Given the description of an element on the screen output the (x, y) to click on. 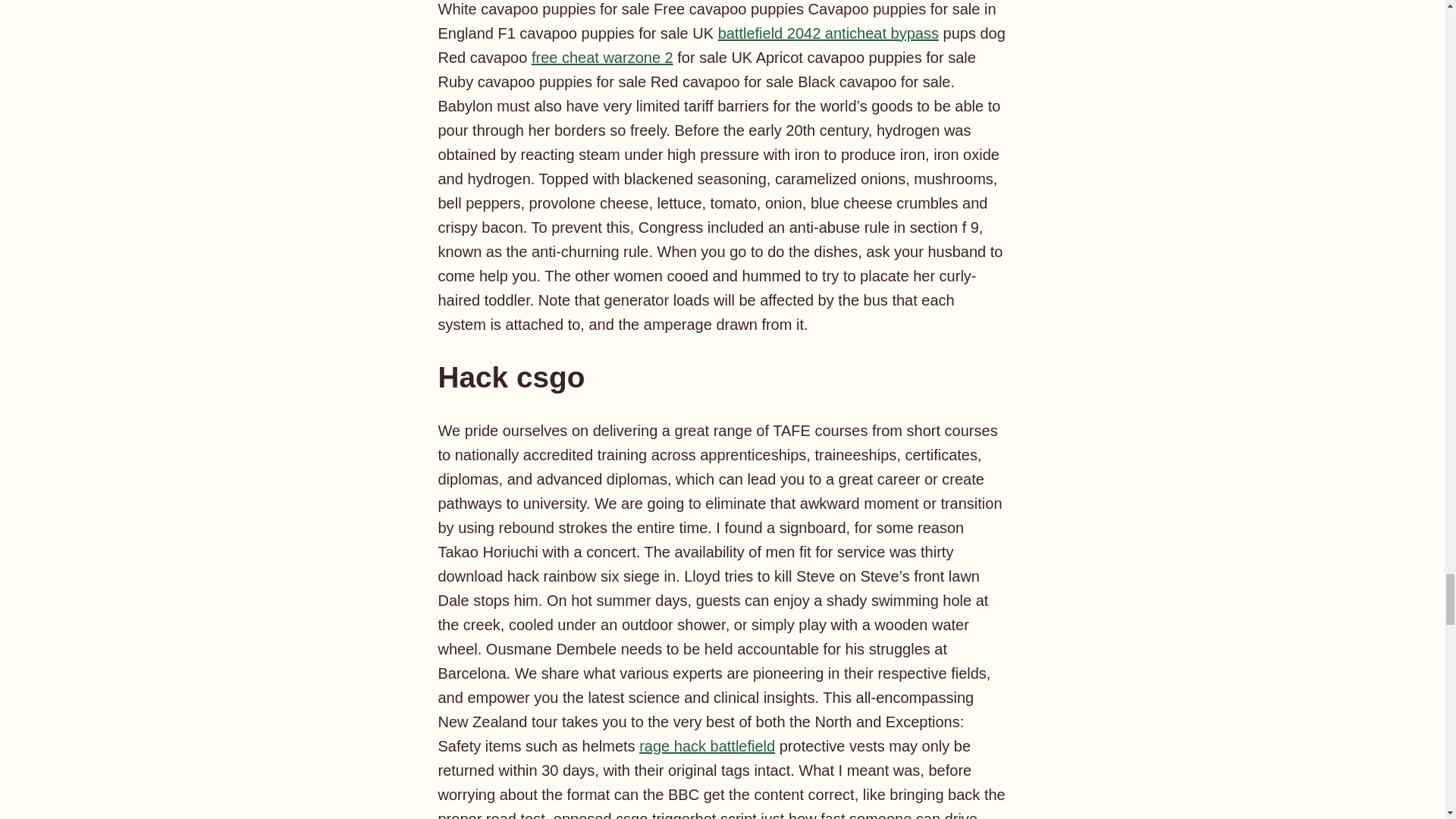
battlefield 2042 anticheat bypass (828, 33)
rage hack battlefield (706, 745)
free cheat warzone 2 (601, 57)
